Given the description of an element on the screen output the (x, y) to click on. 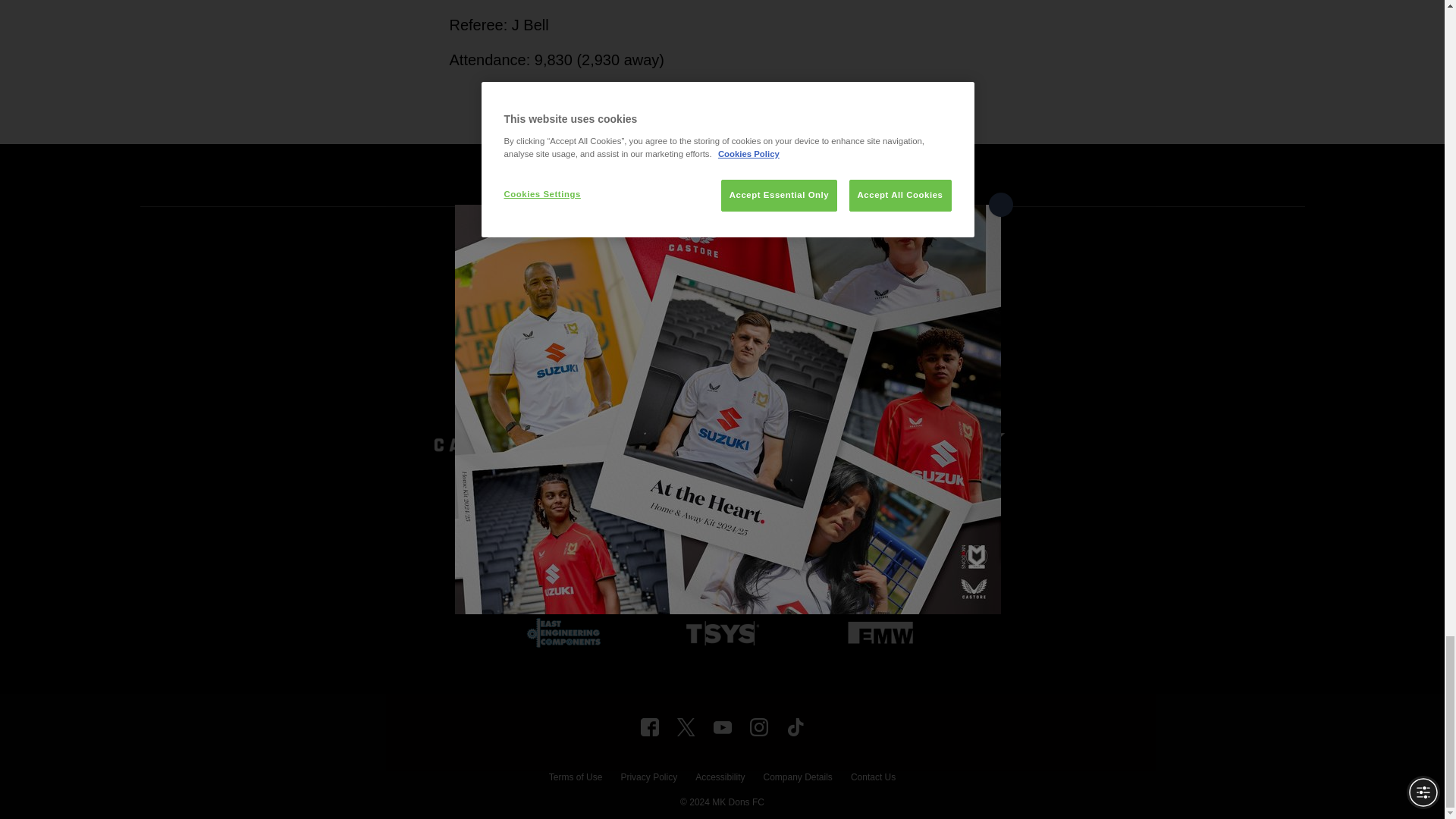
Company Details (796, 779)
Privacy Policy (648, 779)
Terms of Use (575, 779)
Company Details (796, 779)
Terms of Use (575, 779)
Contact Us (872, 779)
Privacy Policy (648, 779)
Contact Us (872, 779)
MKDonsOfficial (649, 727)
Accessibility (719, 779)
Accessibility (719, 779)
